Given the description of an element on the screen output the (x, y) to click on. 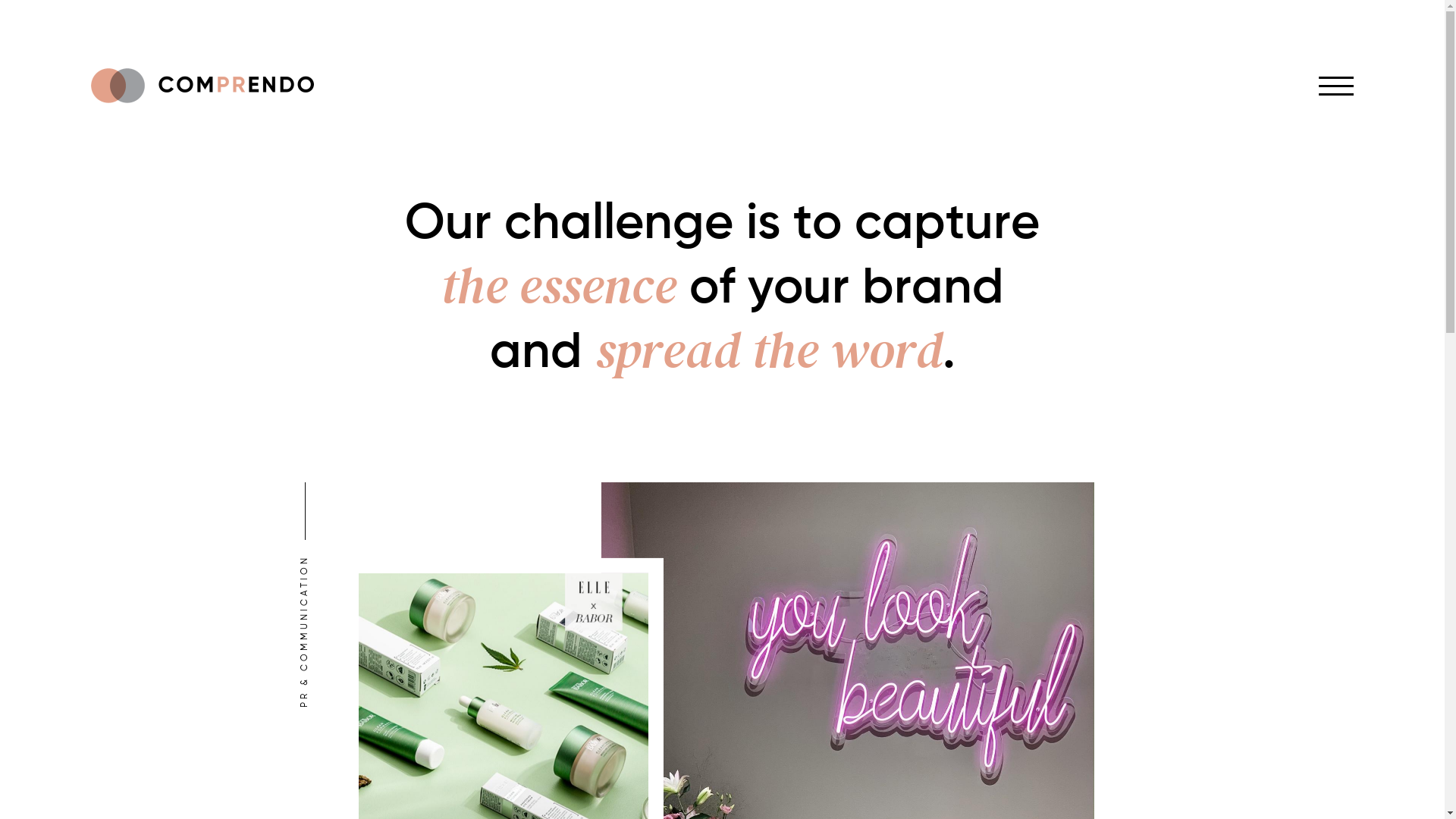
Home Element type: hover (202, 85)
